Given the description of an element on the screen output the (x, y) to click on. 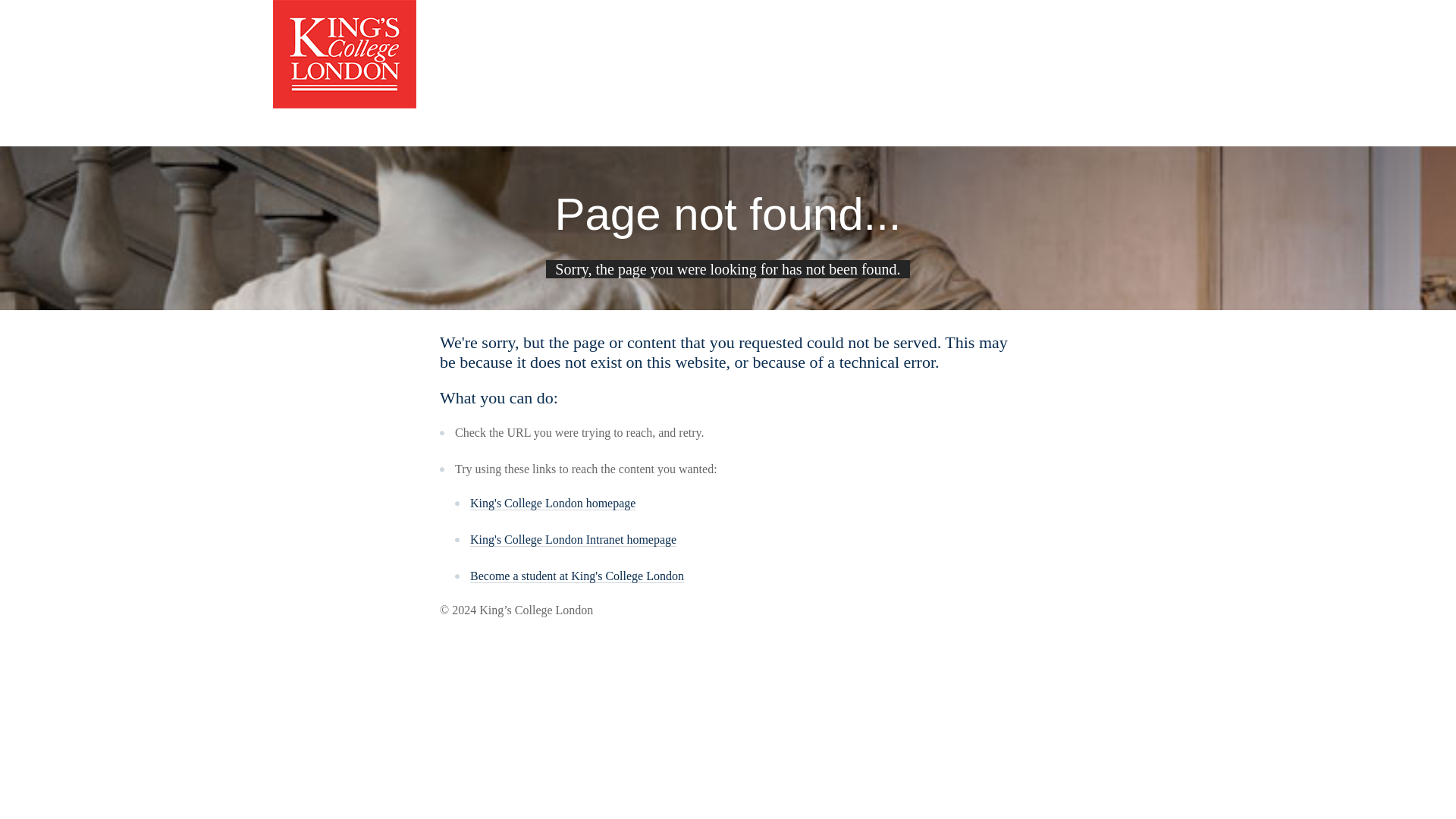
King's College London (344, 52)
King's College London Intranet homepage (573, 540)
Become a student at King's College London (577, 576)
King's College London homepage (552, 503)
